Given the description of an element on the screen output the (x, y) to click on. 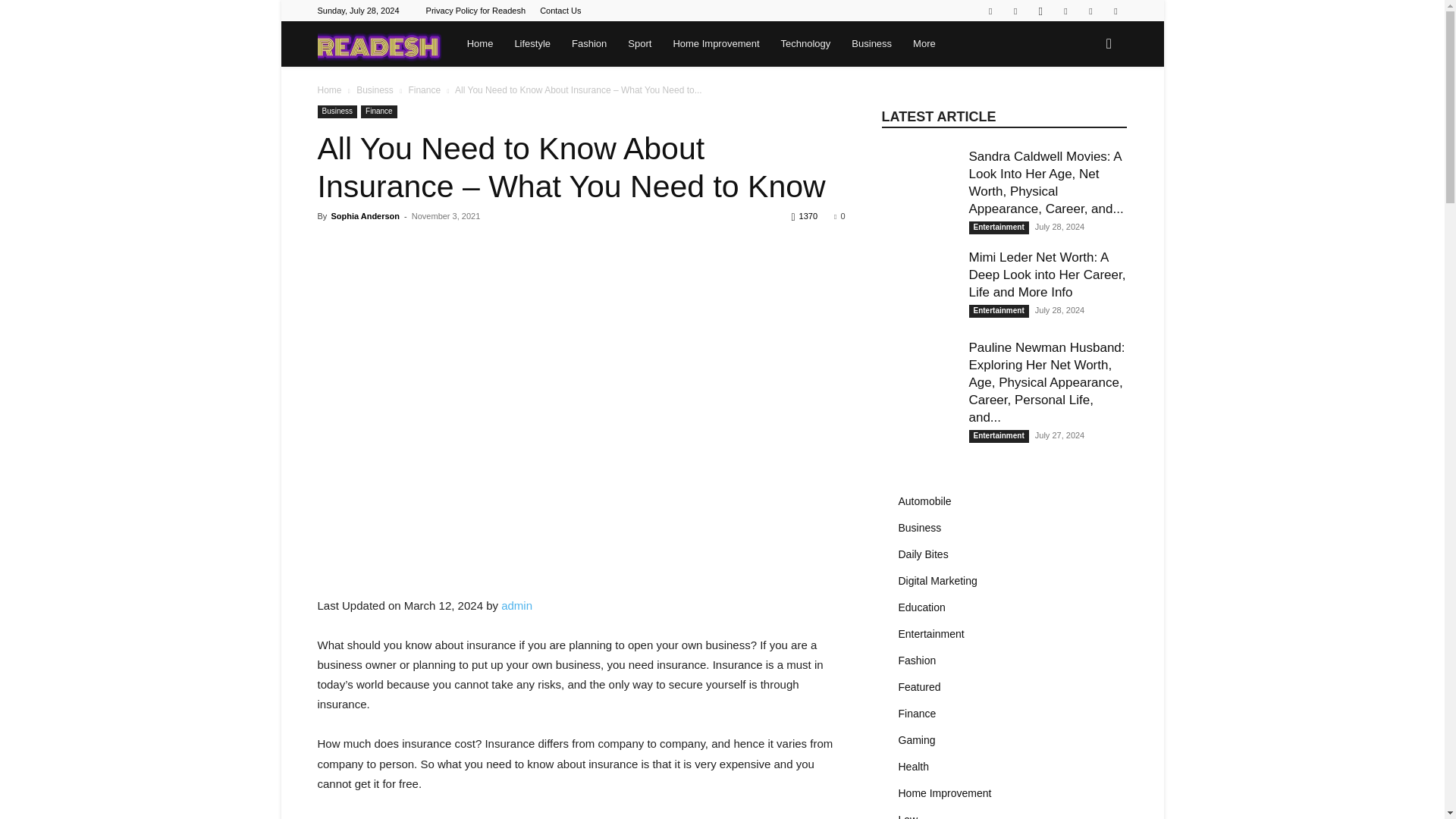
VKontakte (1114, 10)
Behance (989, 10)
Readish Logo (379, 44)
Contact Us (560, 10)
Vimeo (1090, 10)
Facebook (1015, 10)
Instagram (1040, 10)
Privacy Policy for Readesh (475, 10)
Twitter (1065, 10)
